Given the description of an element on the screen output the (x, y) to click on. 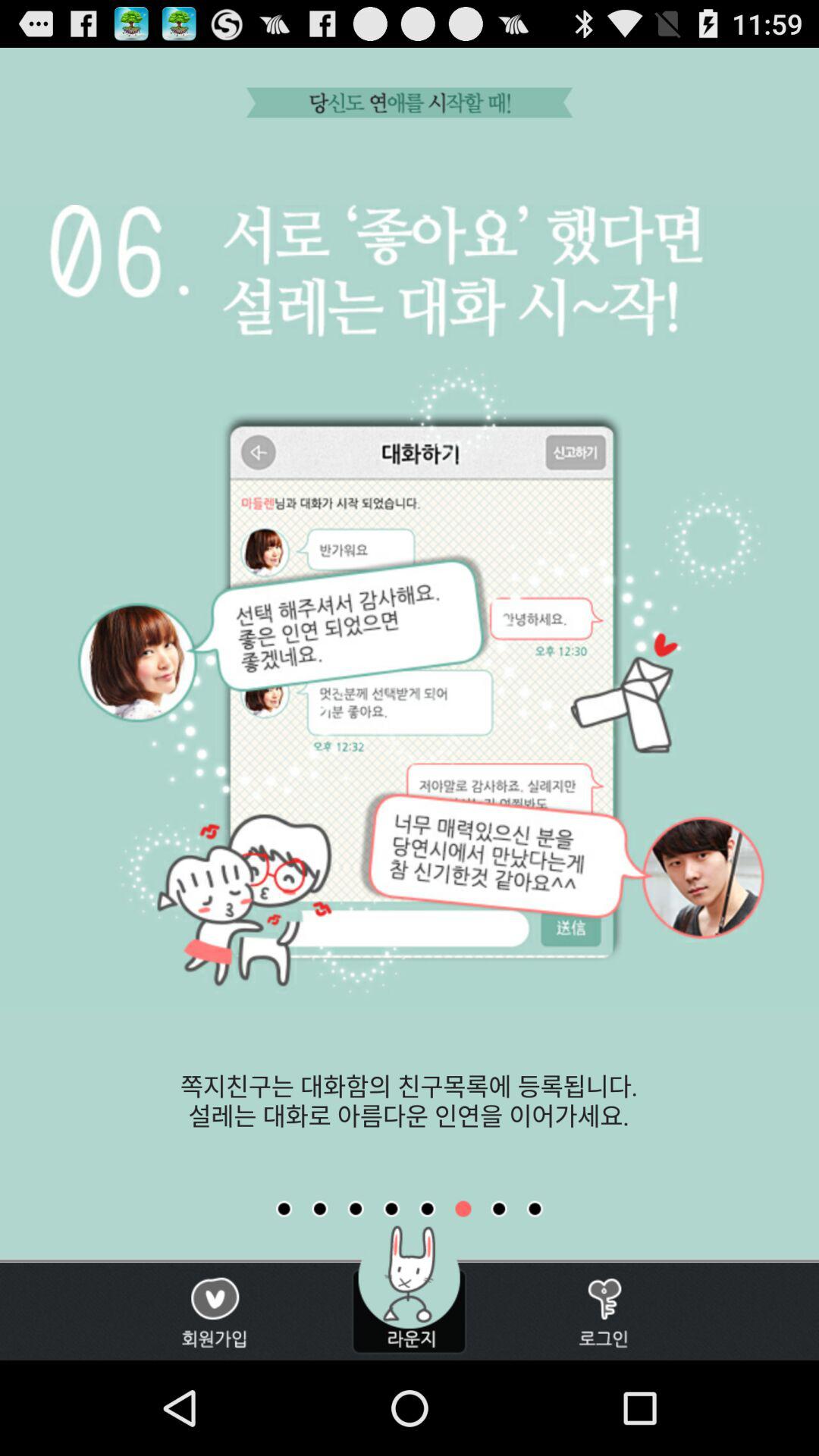
go foward (534, 1208)
